Given the description of an element on the screen output the (x, y) to click on. 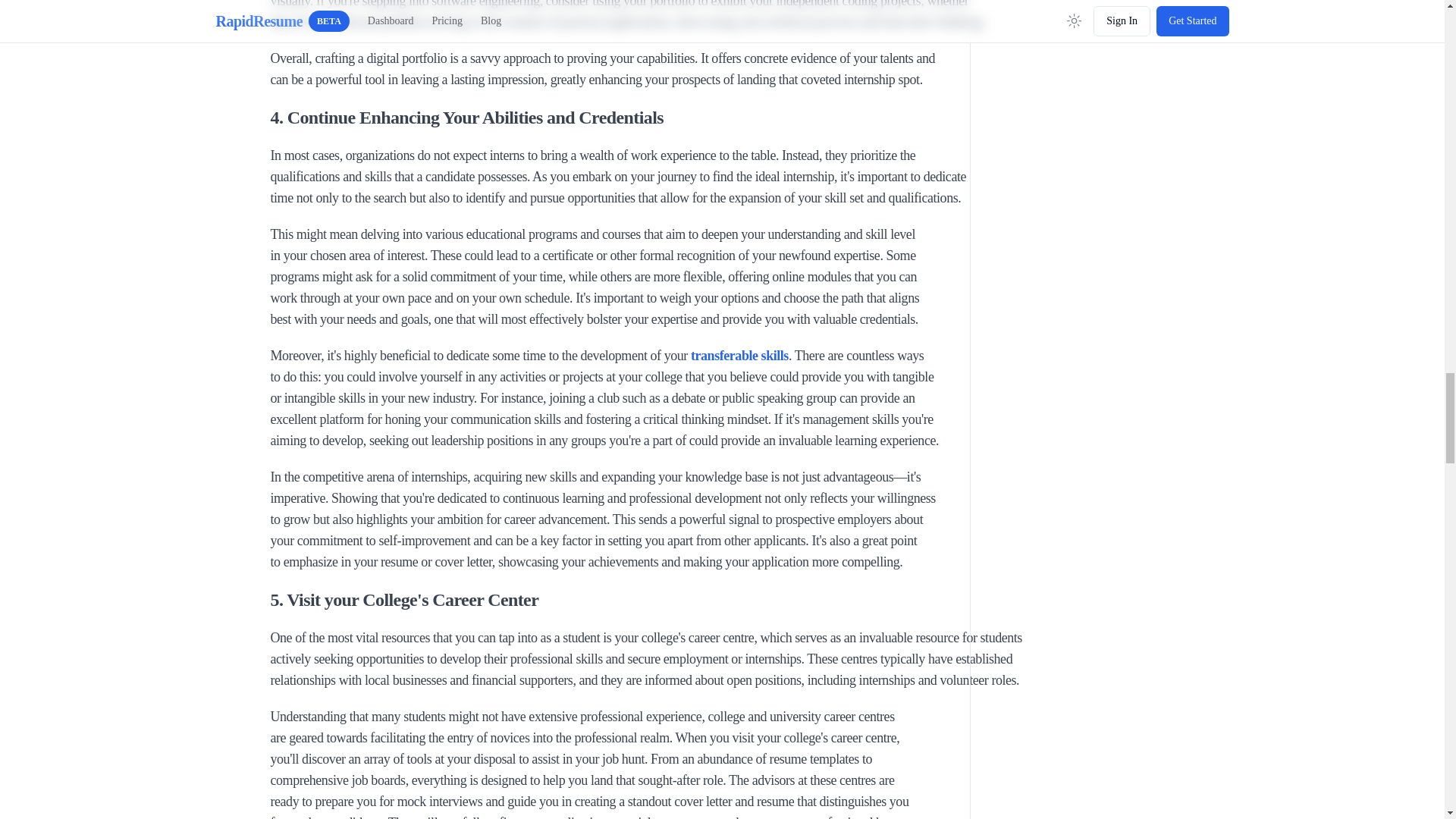
5. Visit your College's Career Center (657, 599)
4. Continue Enhancing Your Abilities and Credentials (657, 117)
transferable skills (739, 355)
